Given the description of an element on the screen output the (x, y) to click on. 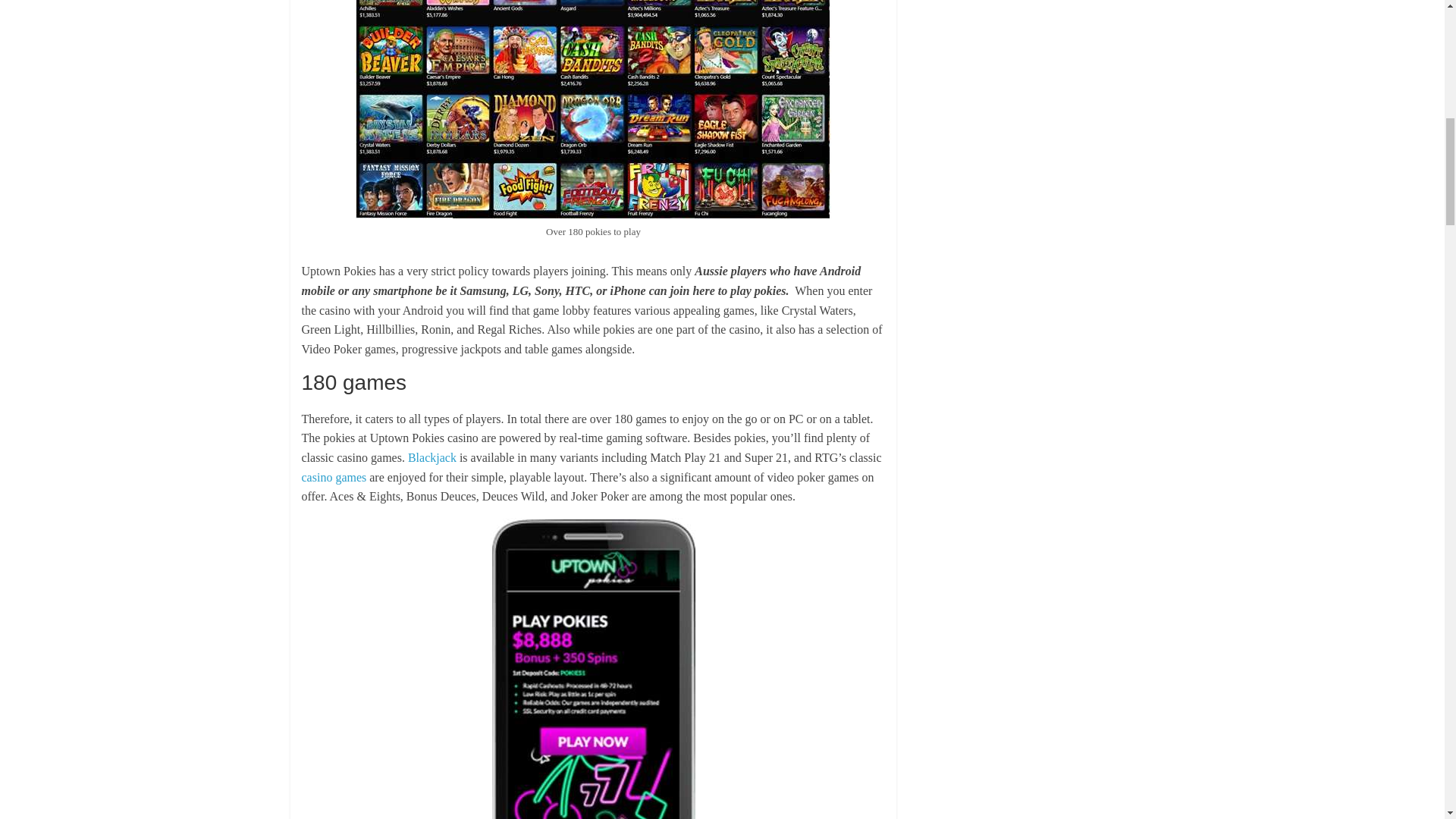
casino games (335, 477)
Blackjack (432, 457)
